Given the description of an element on the screen output the (x, y) to click on. 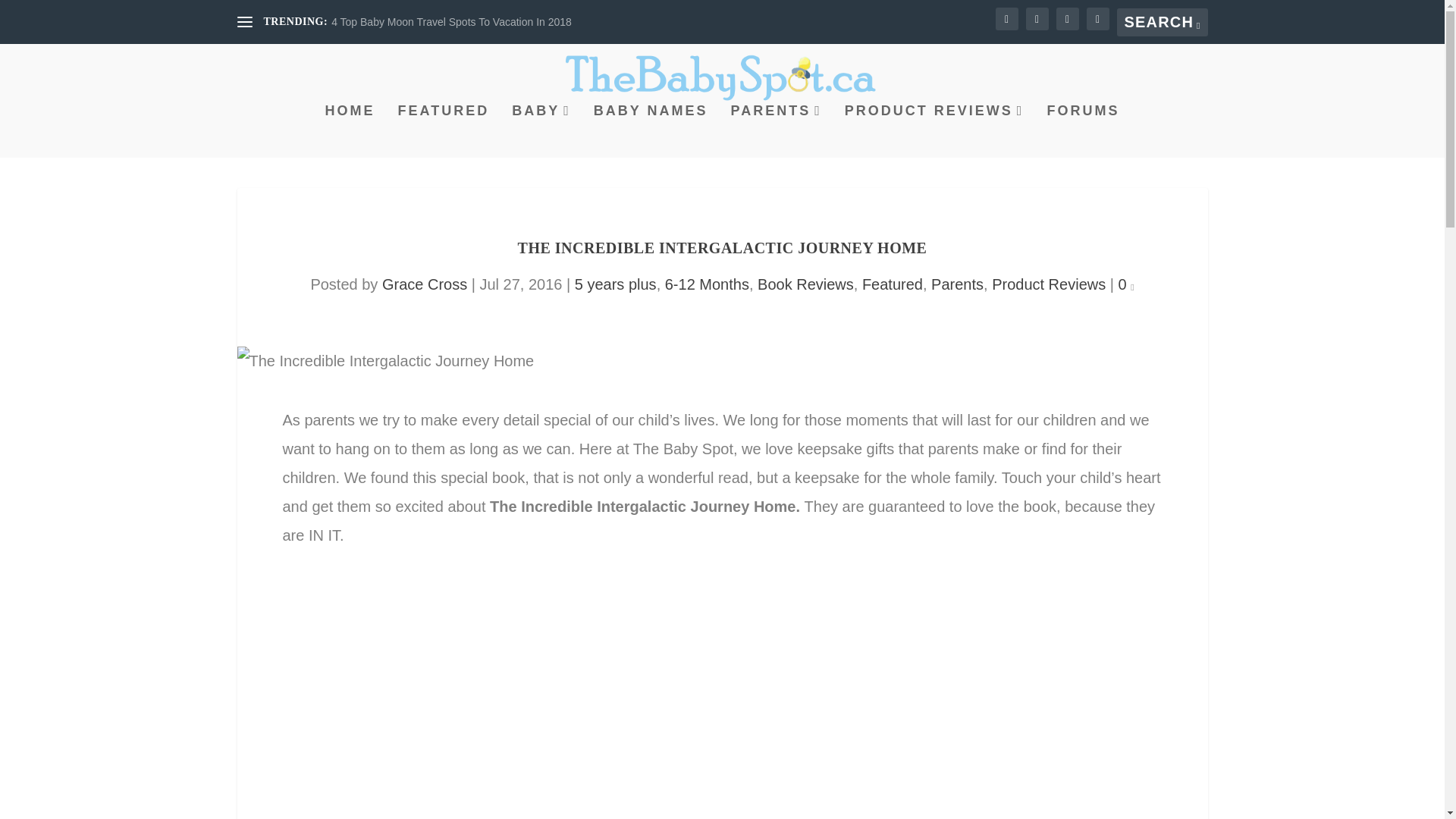
FEATURED (443, 131)
Product Reviews (1048, 284)
Featured (892, 284)
Grace Cross (424, 284)
FORUMS (1082, 131)
6-12 Months (707, 284)
5 years plus (615, 284)
HOME (349, 131)
Posts by Grace Cross (424, 284)
BABY NAMES (650, 131)
